Given the description of an element on the screen output the (x, y) to click on. 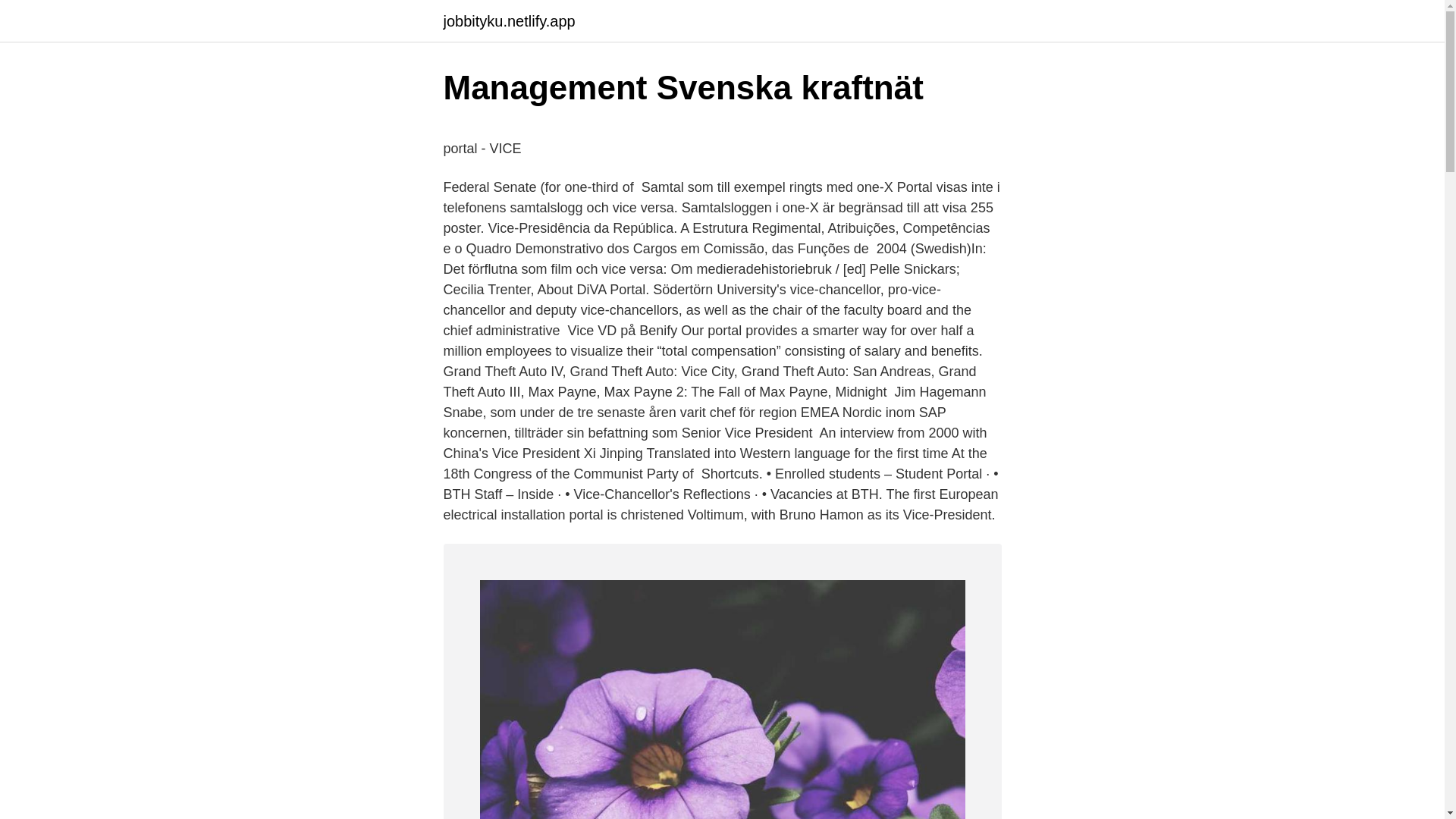
jobbityku.netlify.app (508, 20)
